Given the description of an element on the screen output the (x, y) to click on. 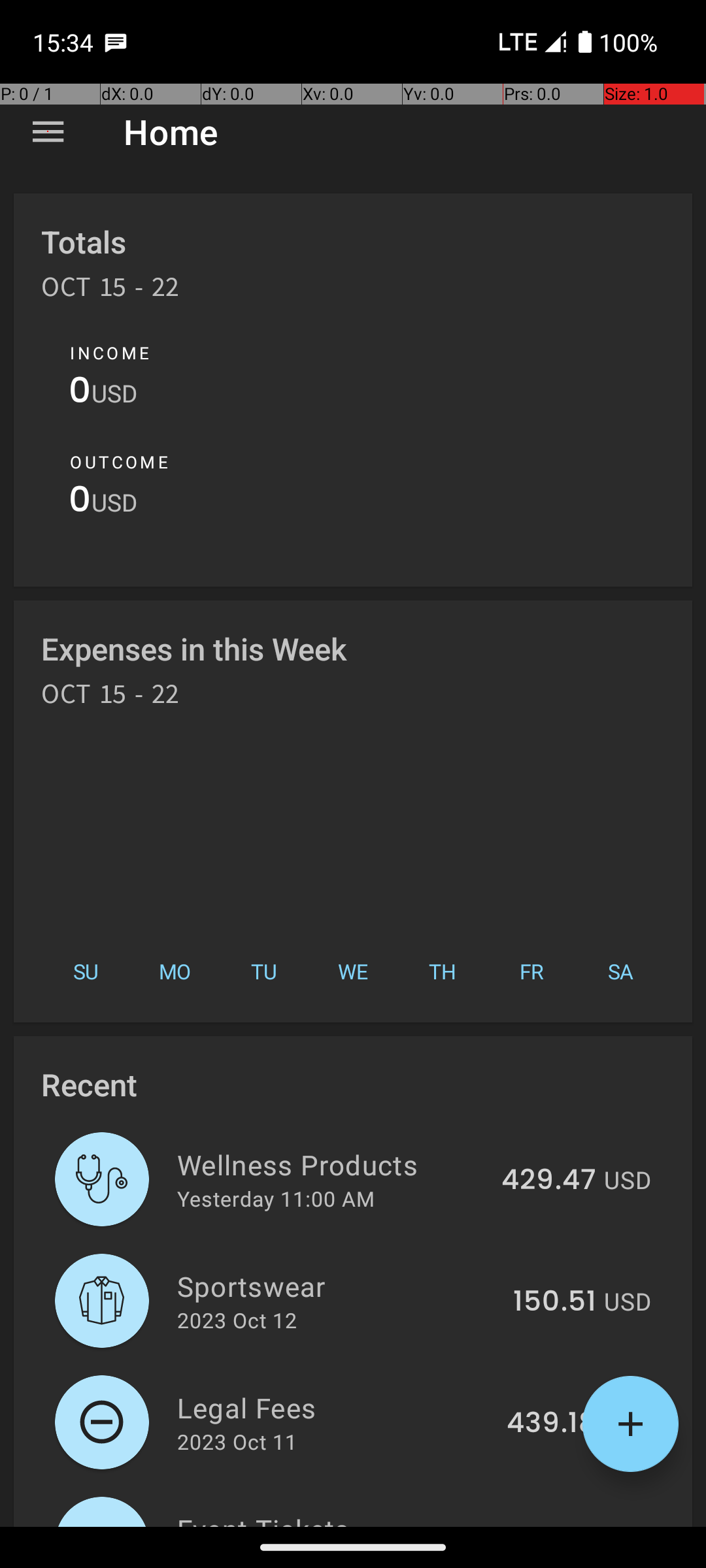
Wellness Products Element type: android.widget.TextView (331, 1164)
Yesterday 11:00 AM Element type: android.widget.TextView (275, 1198)
429.47 Element type: android.widget.TextView (548, 1180)
Sportswear Element type: android.widget.TextView (337, 1285)
150.51 Element type: android.widget.TextView (554, 1301)
Legal Fees Element type: android.widget.TextView (334, 1407)
439.18 Element type: android.widget.TextView (550, 1423)
Event Tickets Element type: android.widget.TextView (331, 1518)
487.53 Element type: android.widget.TextView (548, 1524)
